Given the description of an element on the screen output the (x, y) to click on. 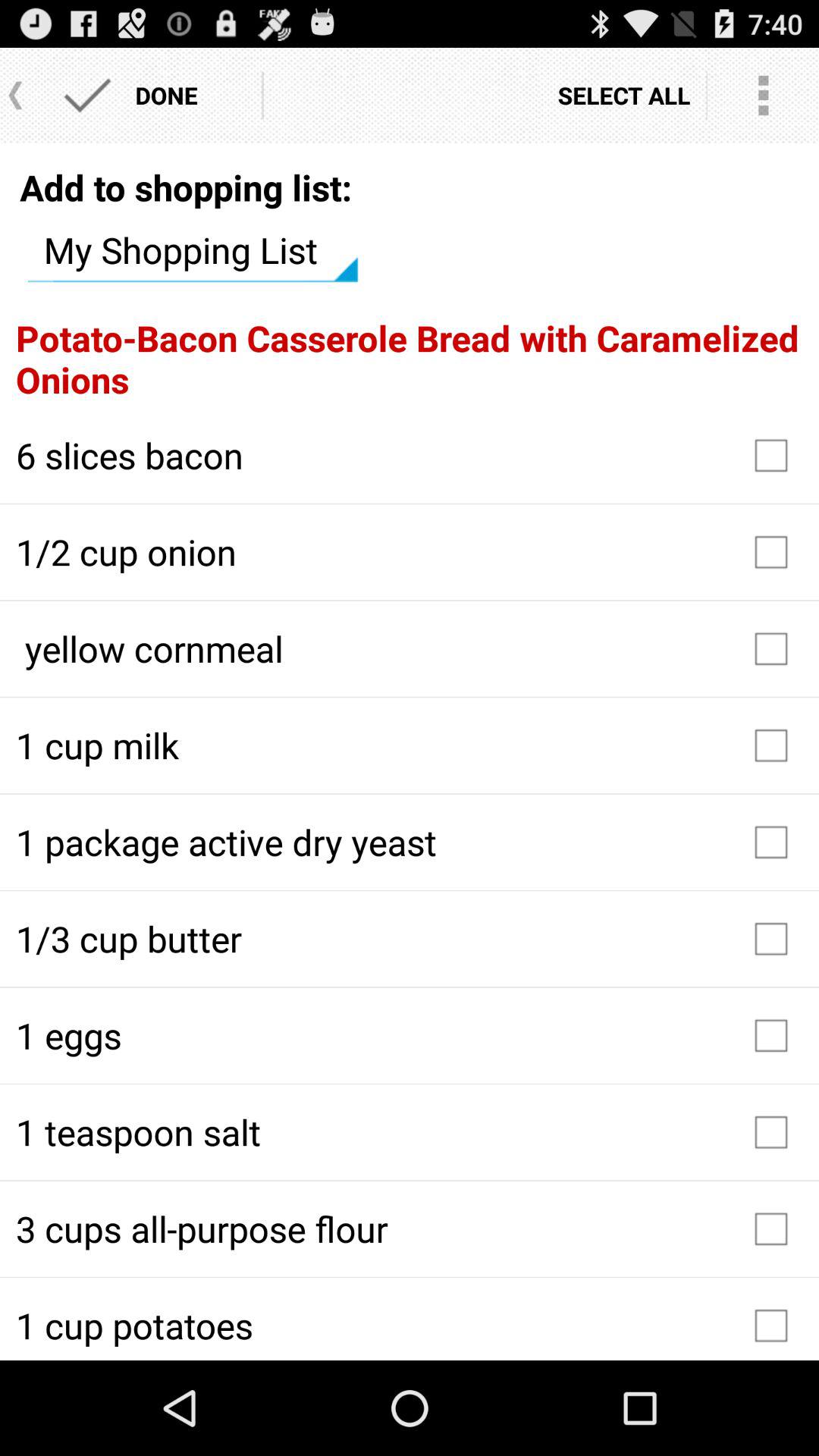
jump until the 1 package active (409, 842)
